Given the description of an element on the screen output the (x, y) to click on. 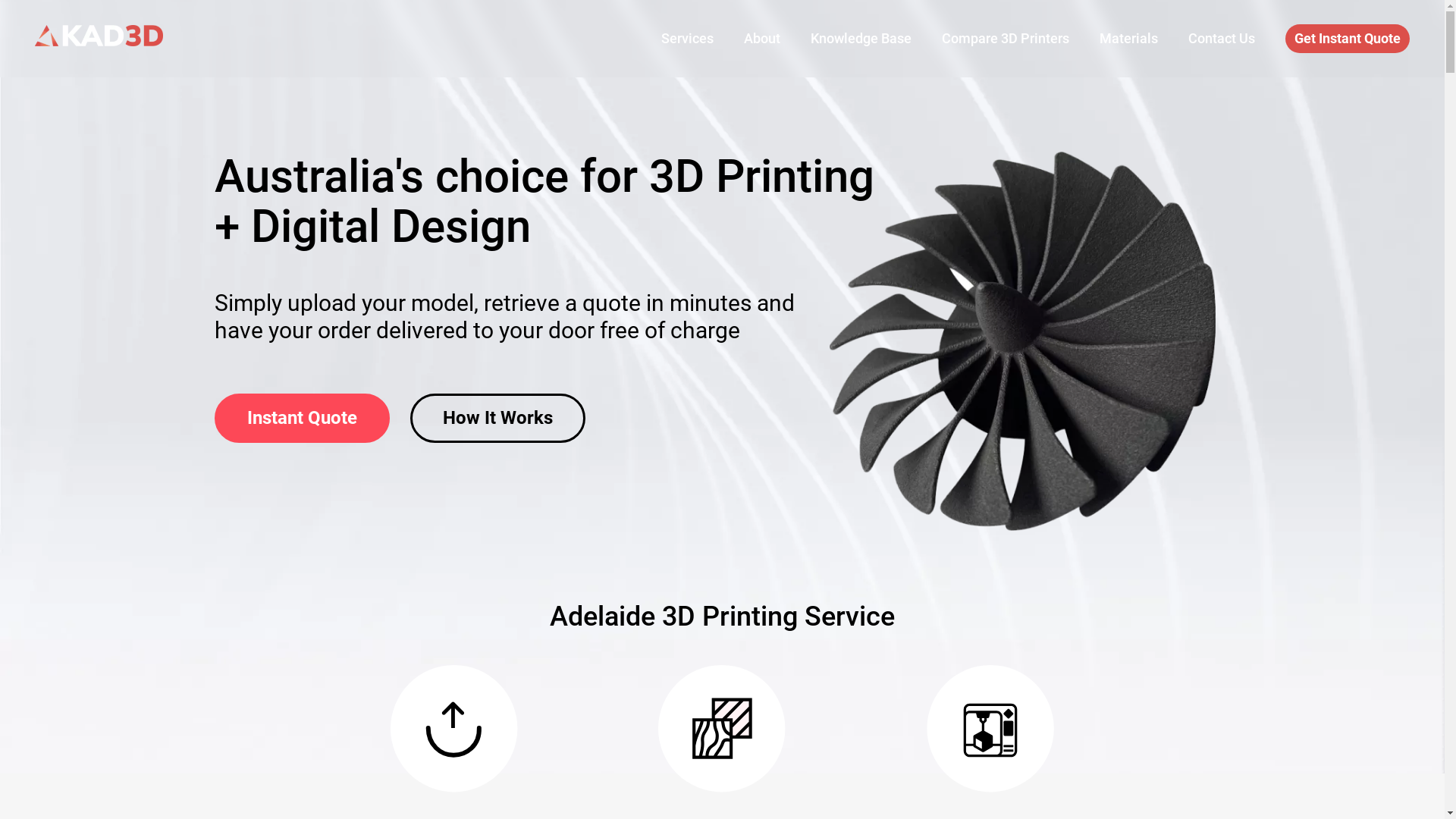
Compare 3D Printers Element type: text (1005, 38)
Knowledge Base Element type: text (860, 38)
Contact Us Element type: text (1221, 38)
Services Element type: text (687, 38)
Instant Quote Element type: text (301, 417)
Get Instant Quote Element type: text (1347, 38)
About Element type: text (761, 38)
Materials Element type: text (1128, 38)
How It Works Element type: text (496, 417)
